Given the description of an element on the screen output the (x, y) to click on. 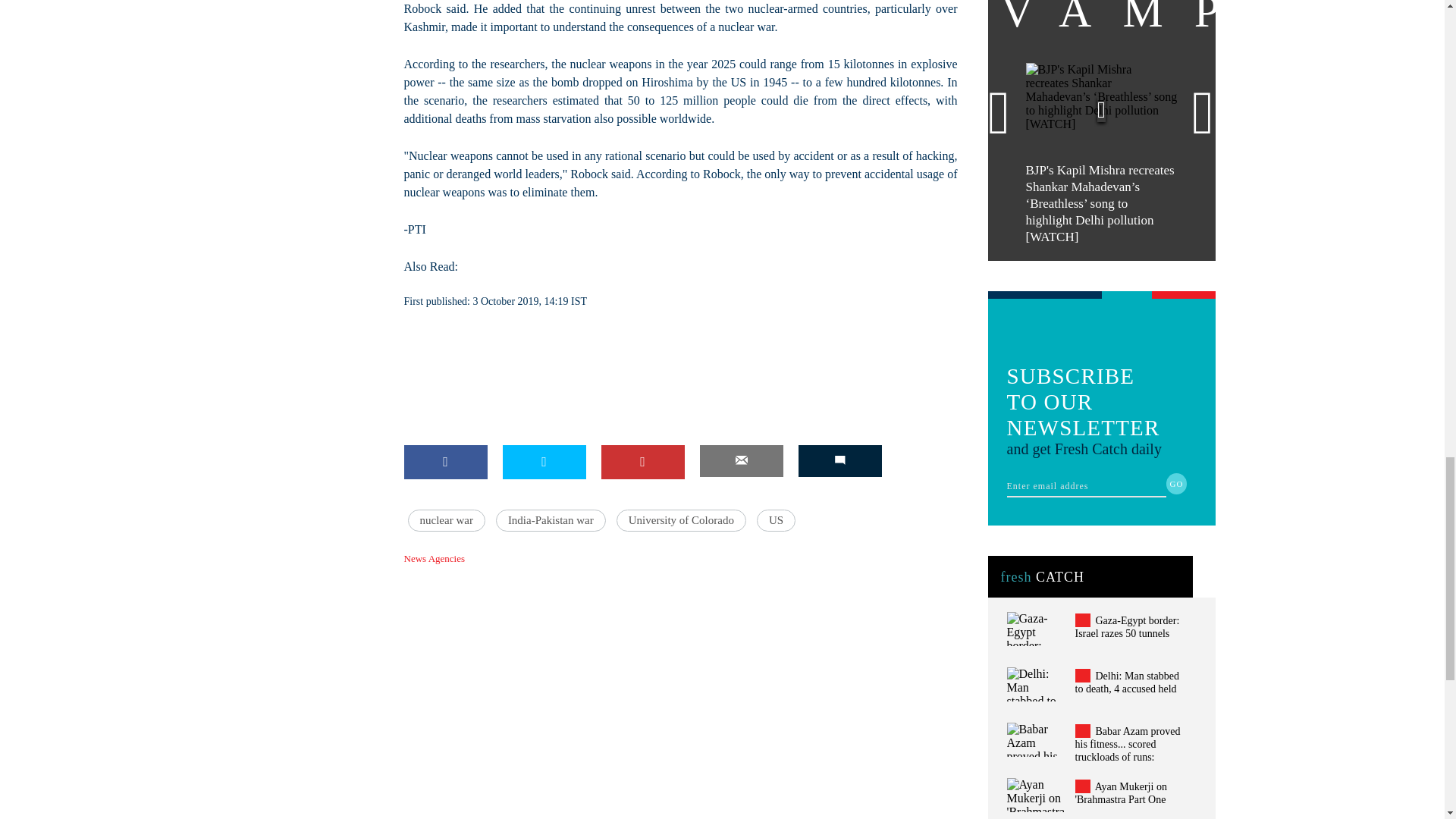
GO (1177, 483)
India-Pakistan war (550, 520)
US (775, 520)
nuclear war (445, 520)
University of Colorado (680, 520)
